Given the description of an element on the screen output the (x, y) to click on. 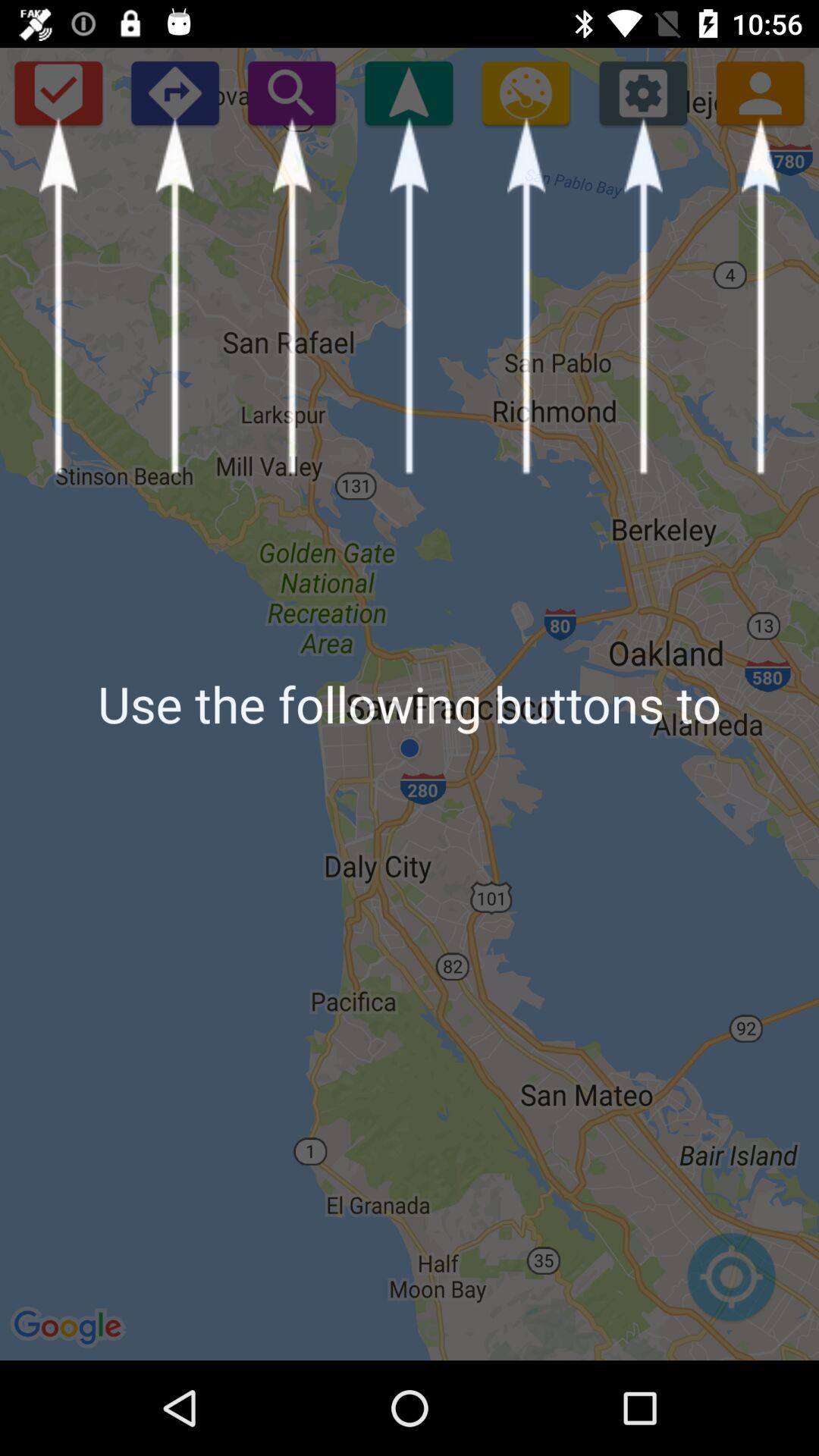
one way (174, 92)
